Given the description of an element on the screen output the (x, y) to click on. 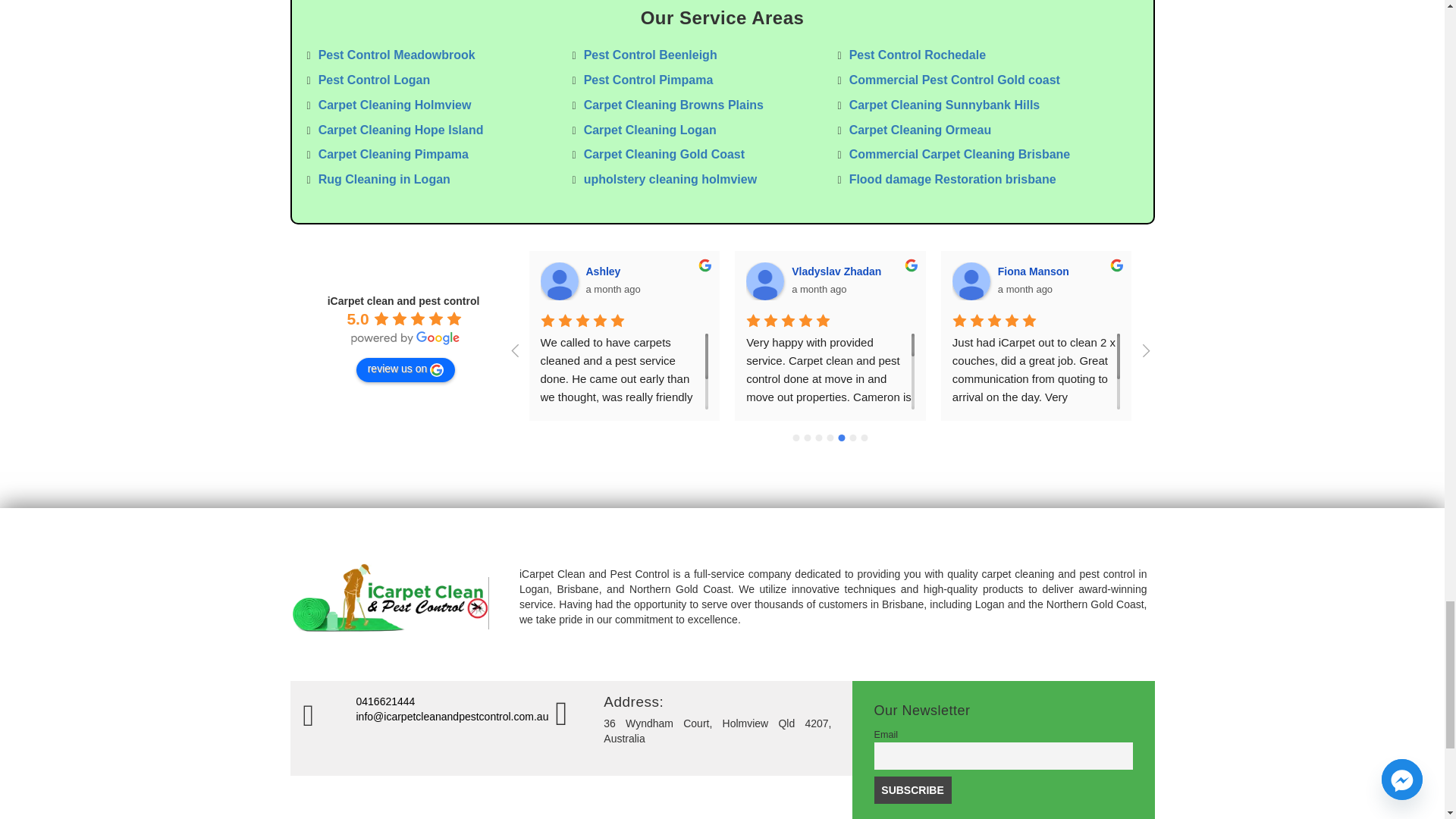
powered by Google (405, 337)
Liza'l Textor (1176, 281)
Fiona Manson (971, 281)
Ray Roza (1383, 281)
Subscribe (911, 789)
Vladyslav Zhadan (764, 281)
Ashley (559, 281)
